Given the description of an element on the screen output the (x, y) to click on. 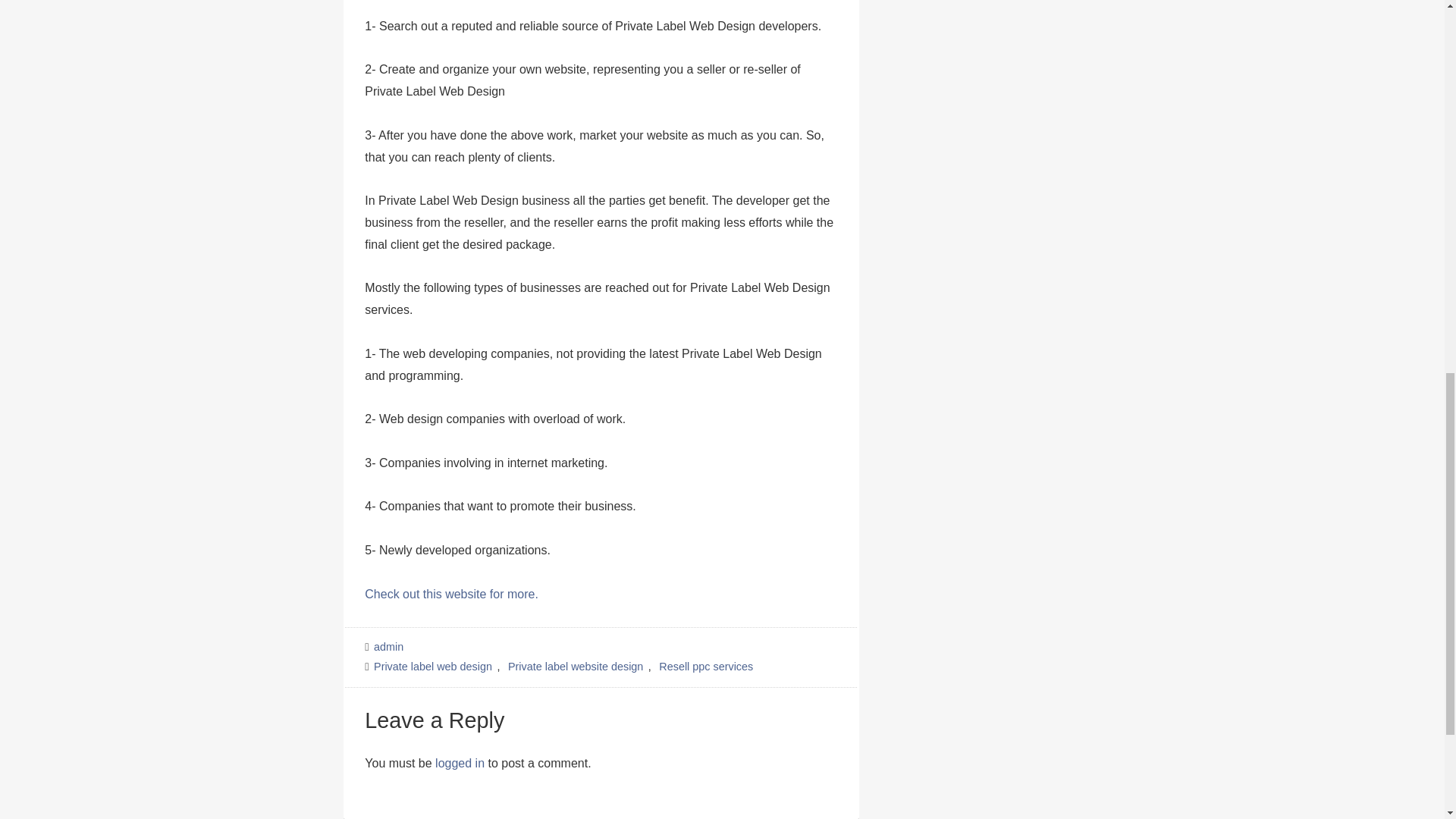
Private label web design (433, 666)
Private label website design (575, 666)
Title (451, 593)
Resell ppc services (705, 666)
admin (389, 646)
logged in (459, 762)
Check out this website for more. (451, 593)
